Given the description of an element on the screen output the (x, y) to click on. 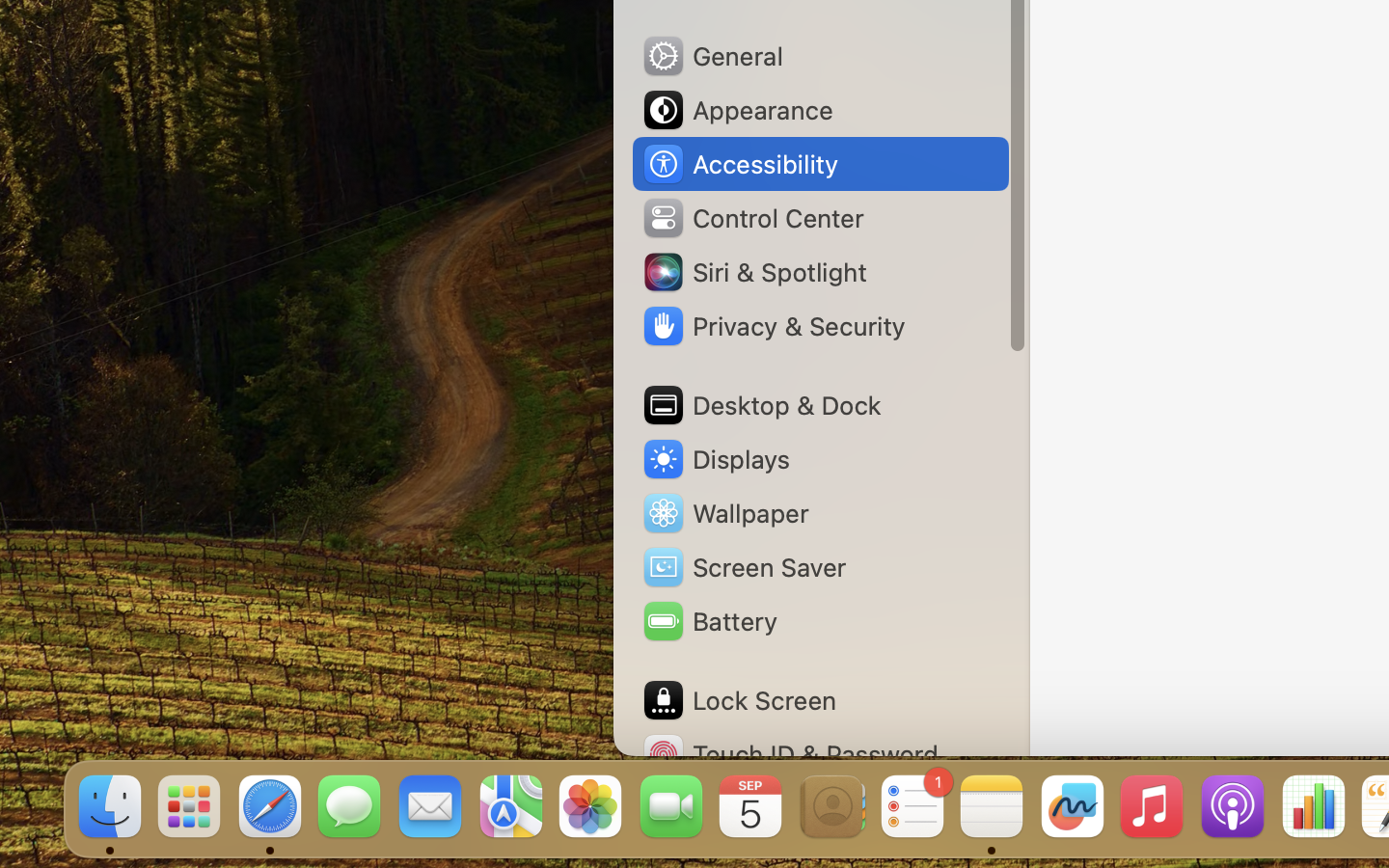
Touch ID & Password Element type: AXStaticText (789, 754)
Lock Screen Element type: AXStaticText (738, 700)
Screen Saver Element type: AXStaticText (743, 566)
Battery Element type: AXStaticText (708, 620)
Control Center Element type: AXStaticText (752, 217)
